Given the description of an element on the screen output the (x, y) to click on. 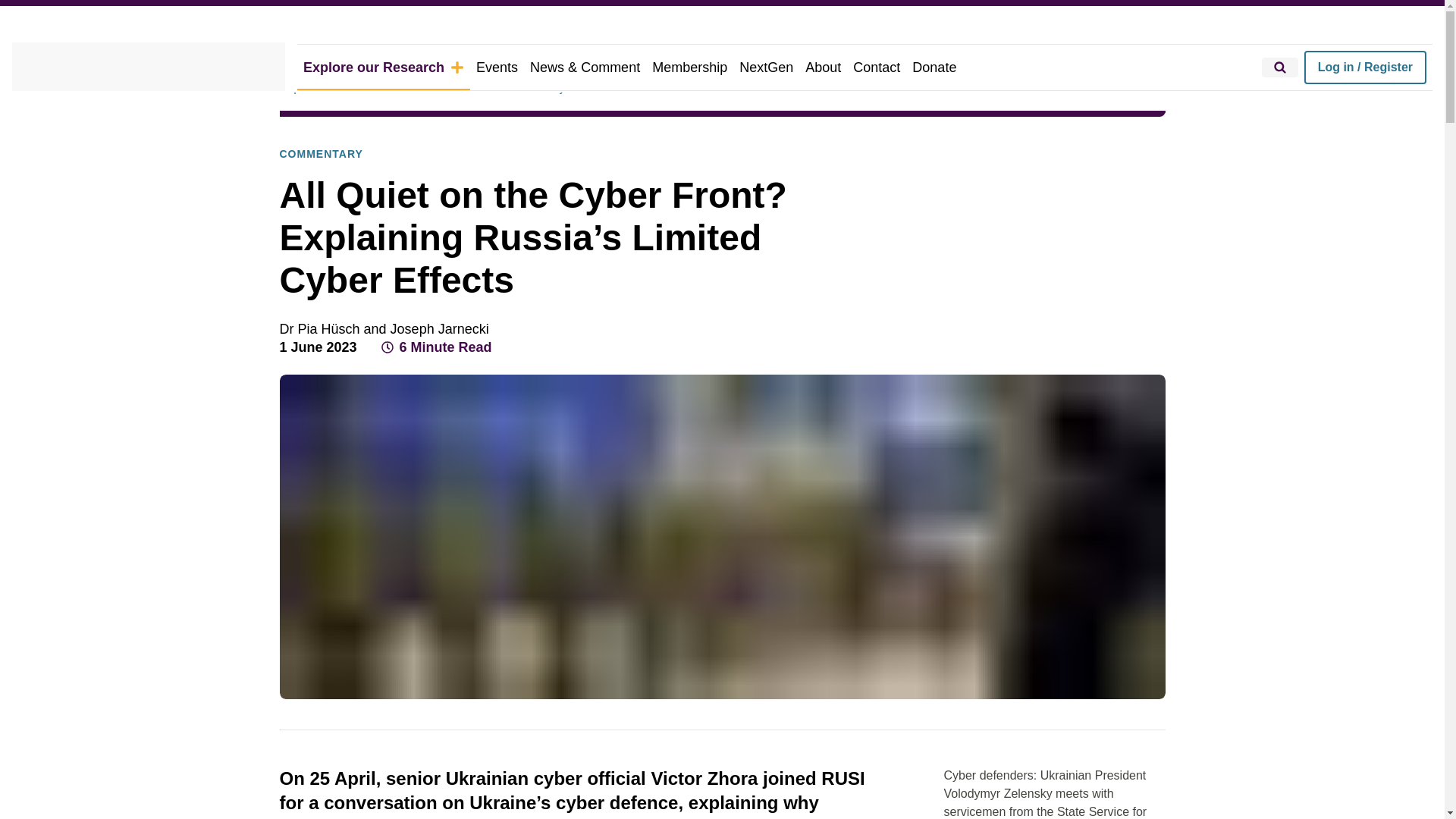
Explore Our Research (338, 88)
Search RUSI (1280, 66)
Membership (689, 67)
Events (497, 67)
NextGen (766, 67)
Donate (933, 67)
About (823, 67)
Publications (447, 88)
Explore our Research (383, 67)
COMMENTARY (320, 154)
Log in (1365, 67)
Commentary (531, 88)
Contact (876, 67)
